Given the description of an element on the screen output the (x, y) to click on. 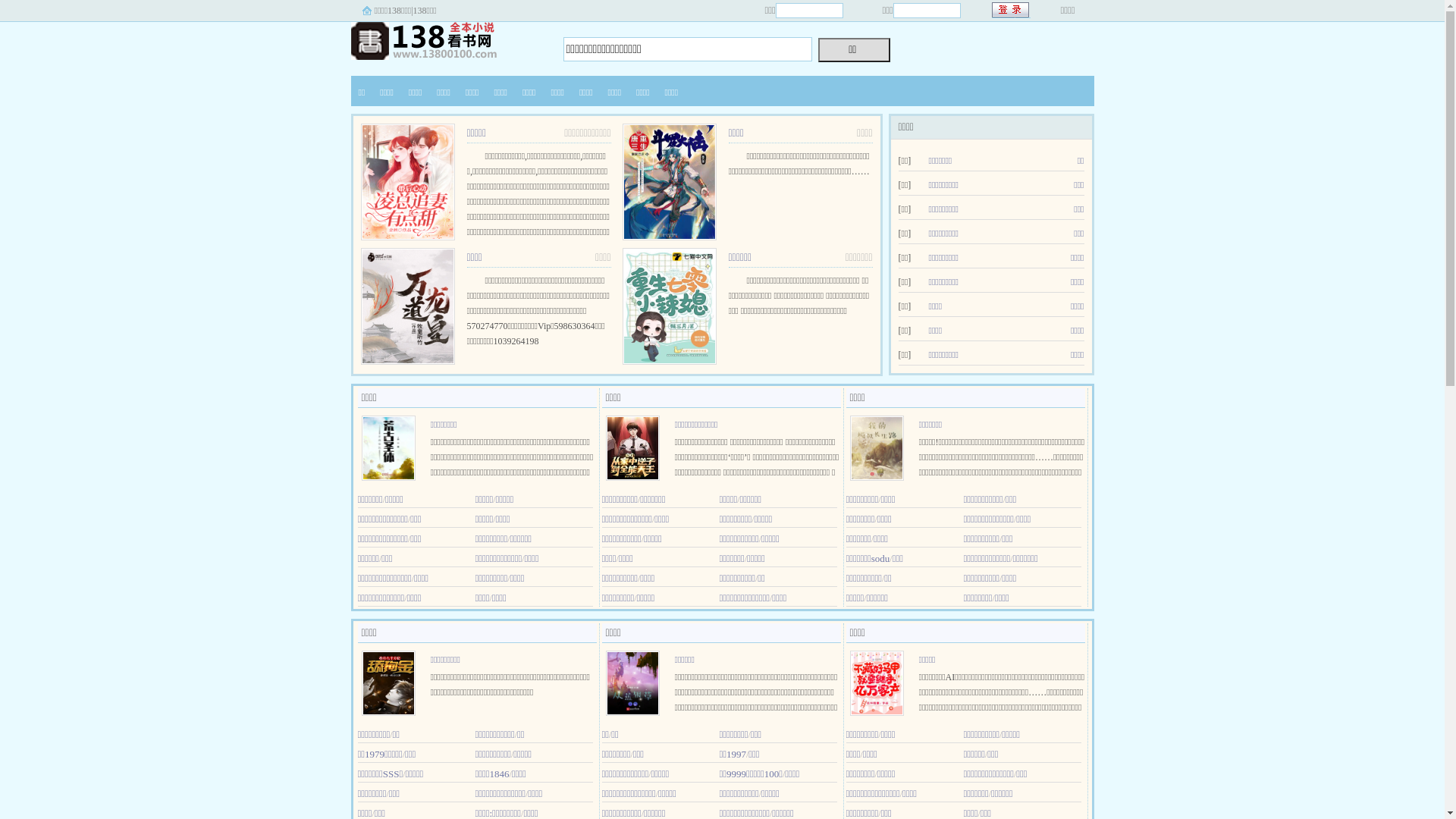
  Element type: text (1010, 10)
